Given the description of an element on the screen output the (x, y) to click on. 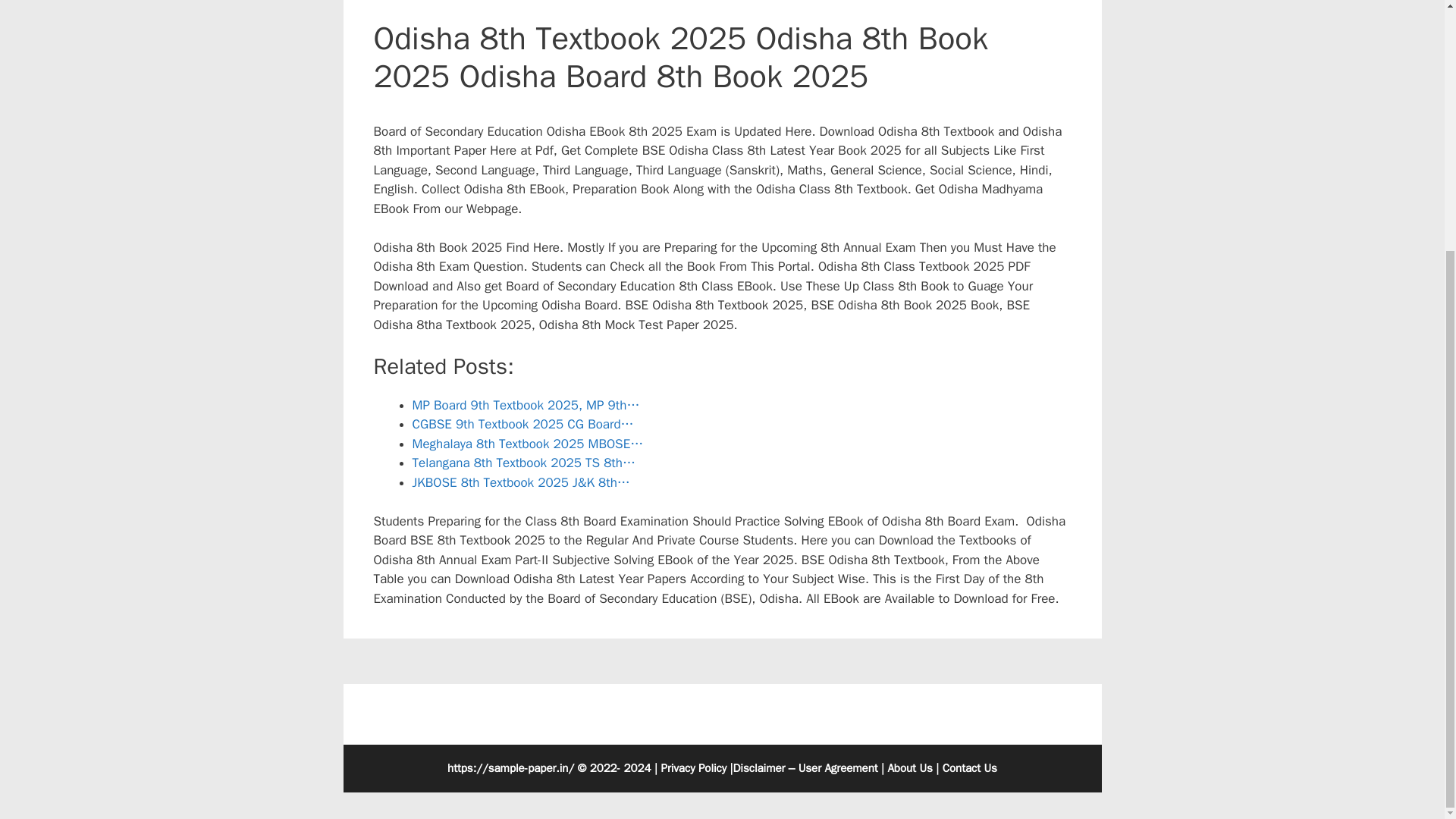
Privacy Policy (693, 767)
About Us (908, 767)
Contact Us (969, 767)
